Given the description of an element on the screen output the (x, y) to click on. 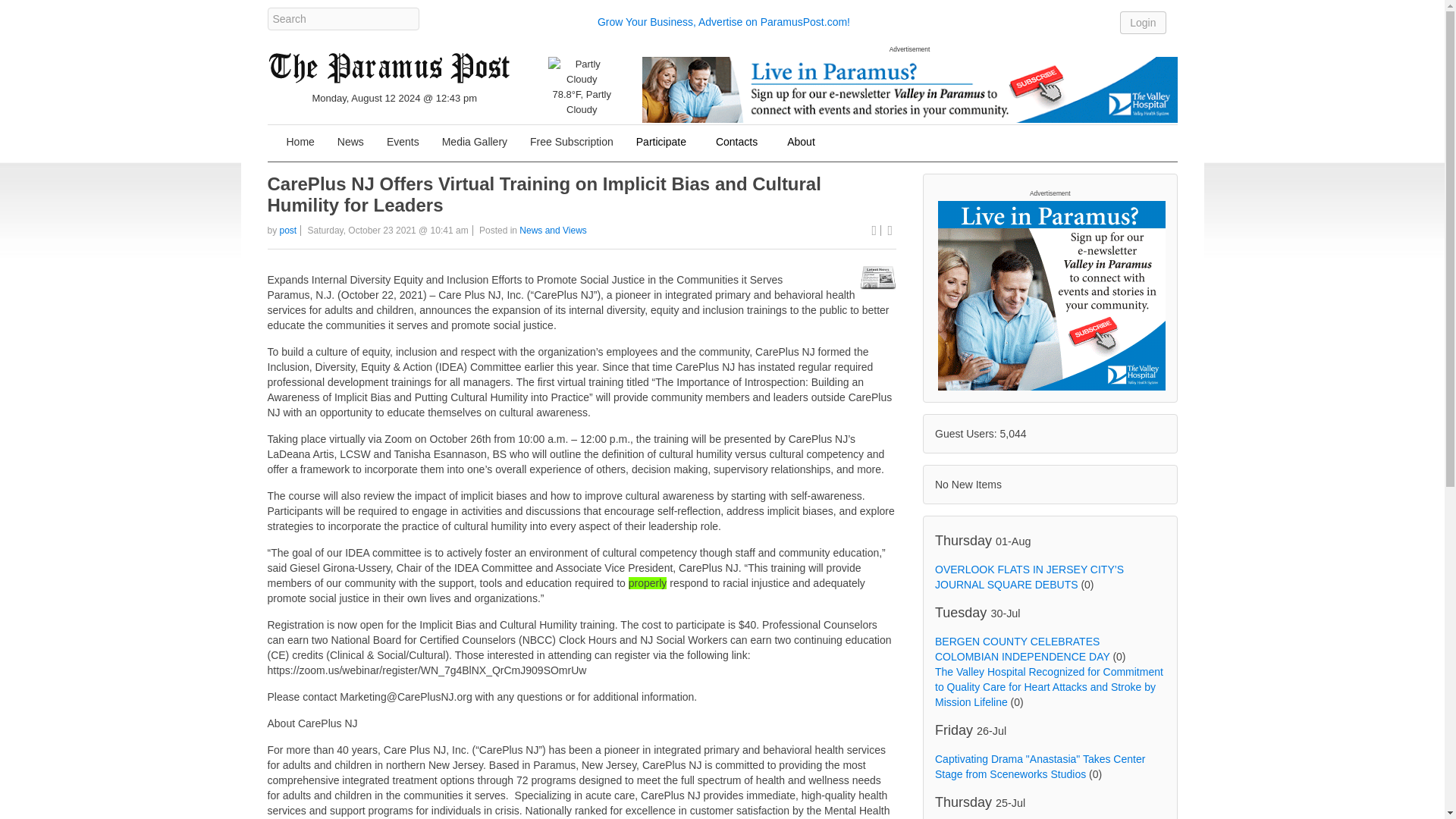
Events (402, 142)
post (288, 230)
BERGEN COUNTY CELEBRATES COLOMBIAN INDEPENDENCE DAY (1021, 648)
News (350, 142)
Grow Your Business, Advertise on ParamusPost.com! (723, 21)
Free Subscription (571, 142)
Valley Image D (909, 89)
Home (299, 142)
Login (1142, 21)
